Given the description of an element on the screen output the (x, y) to click on. 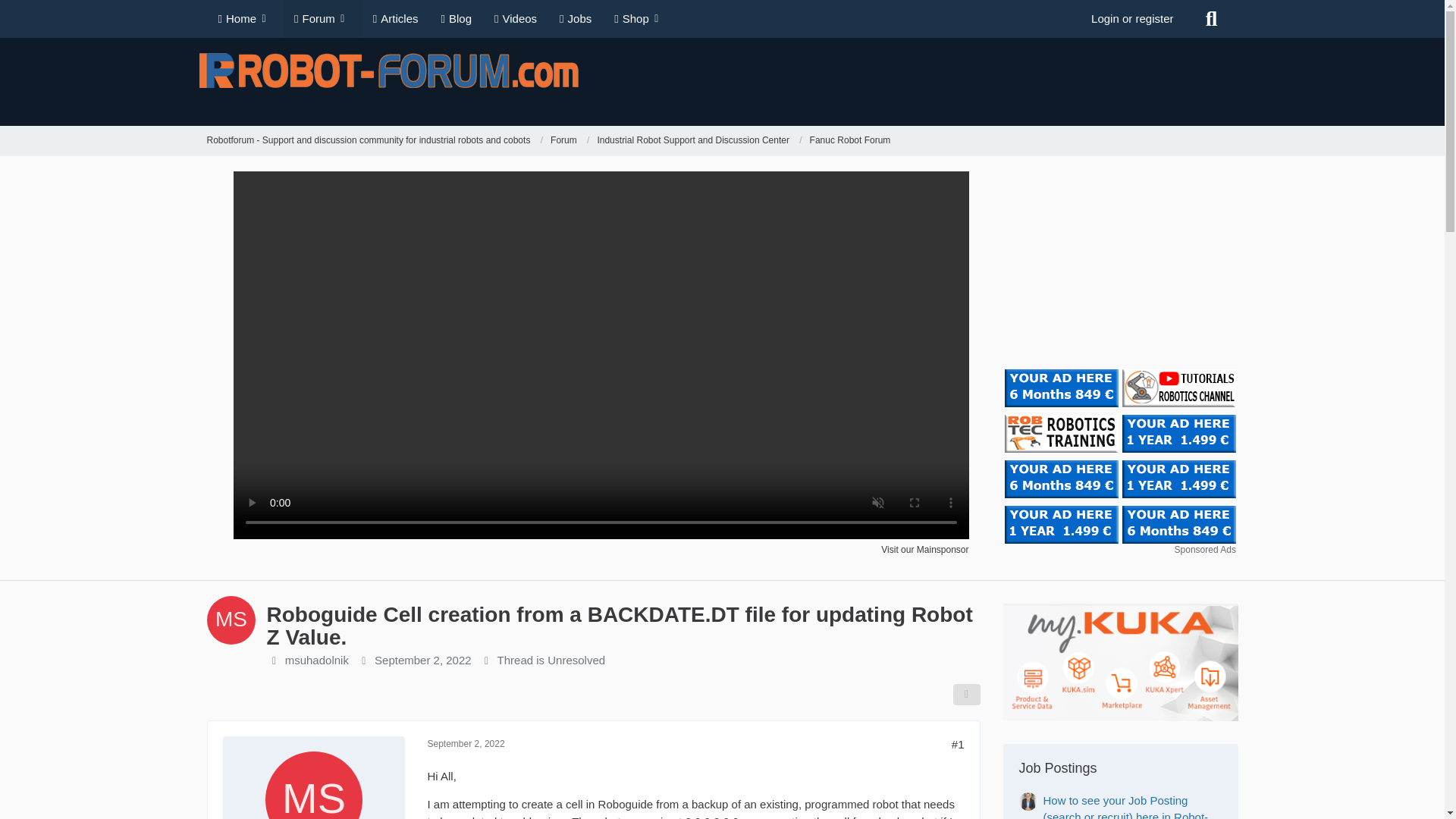
Blog (456, 18)
Industrial Robot Support and Discussion Center (699, 141)
Videos (515, 18)
Industrial Robot Support and Discussion Center (692, 141)
Login or register (1132, 18)
Forum (569, 141)
Jobs (575, 18)
Your browser does not support videos (600, 534)
Forum (563, 141)
